Given the description of an element on the screen output the (x, y) to click on. 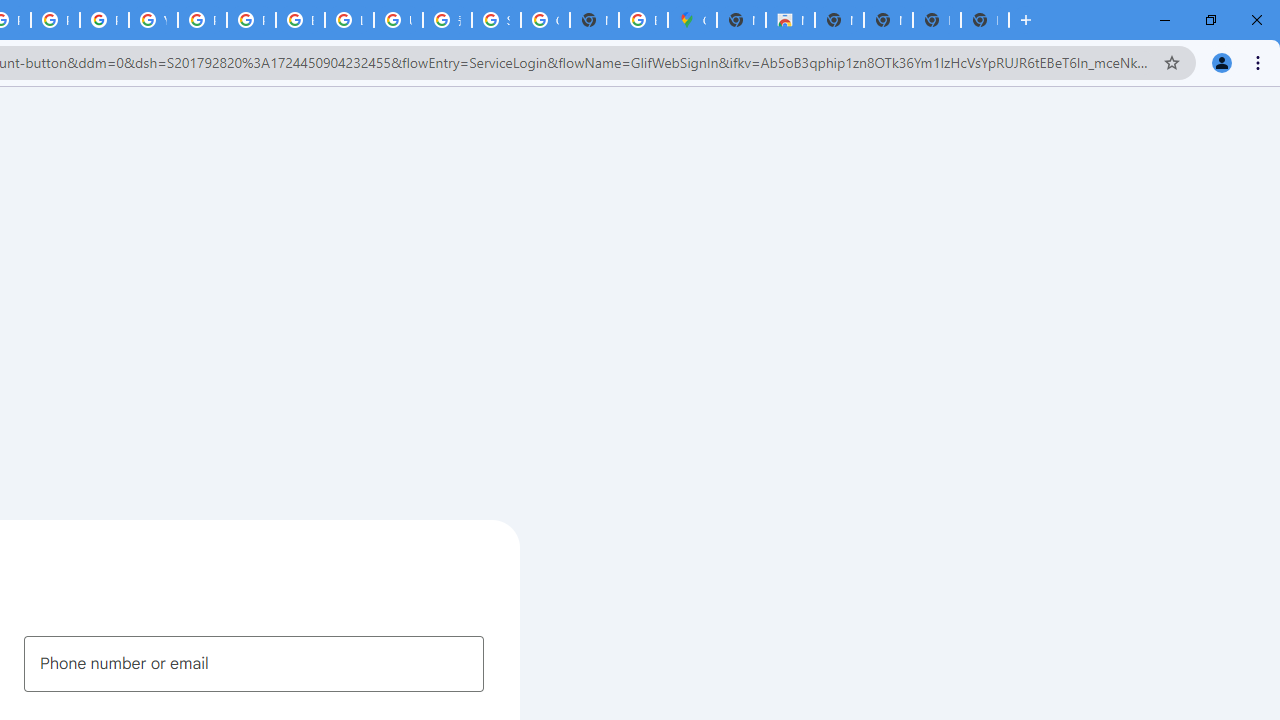
Sign in - Google Accounts (496, 20)
Google Maps (692, 20)
Privacy Help Center - Policies Help (55, 20)
